Given the description of an element on the screen output the (x, y) to click on. 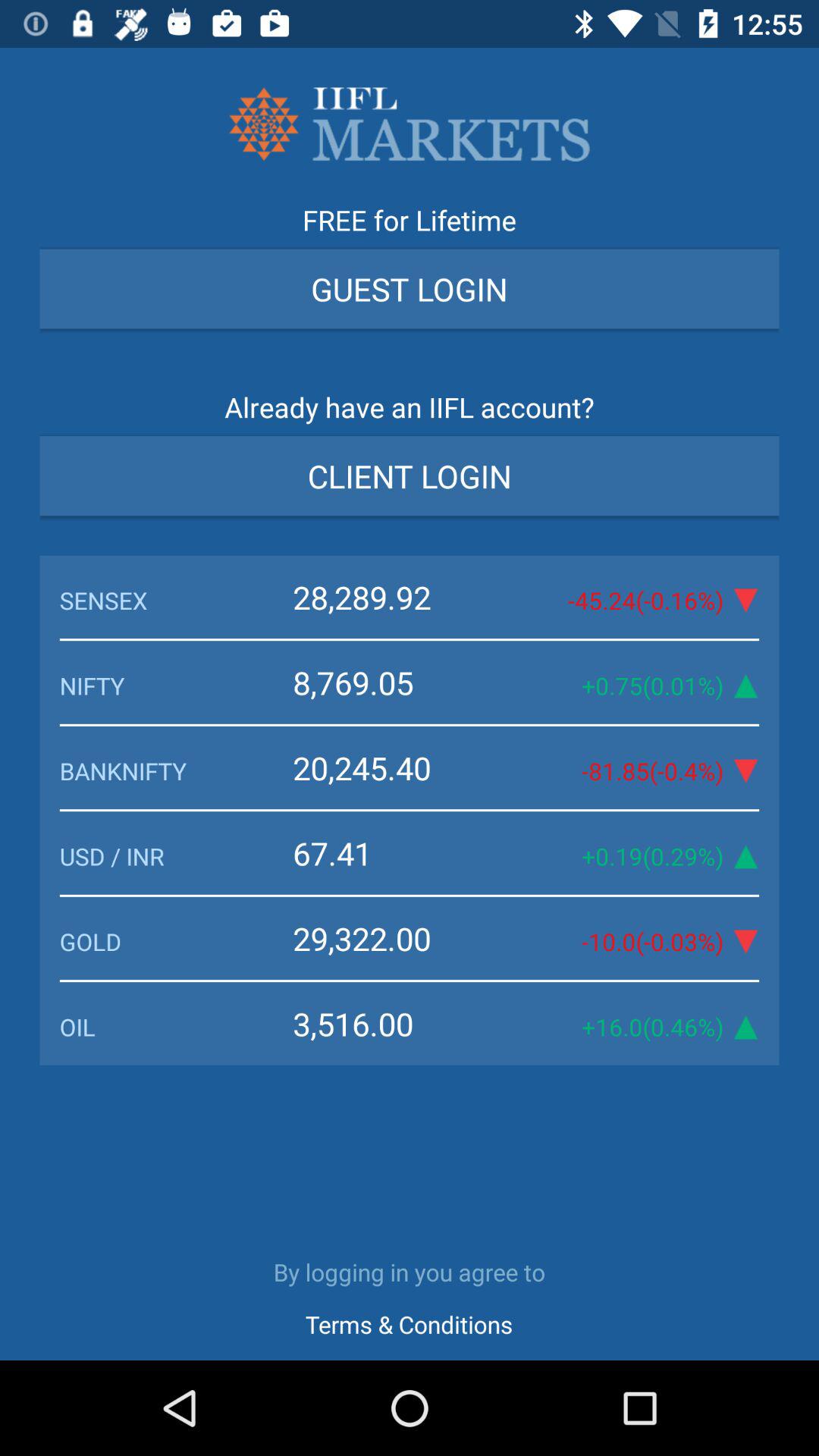
launch the item above the 8,769.05 icon (175, 600)
